Given the description of an element on the screen output the (x, y) to click on. 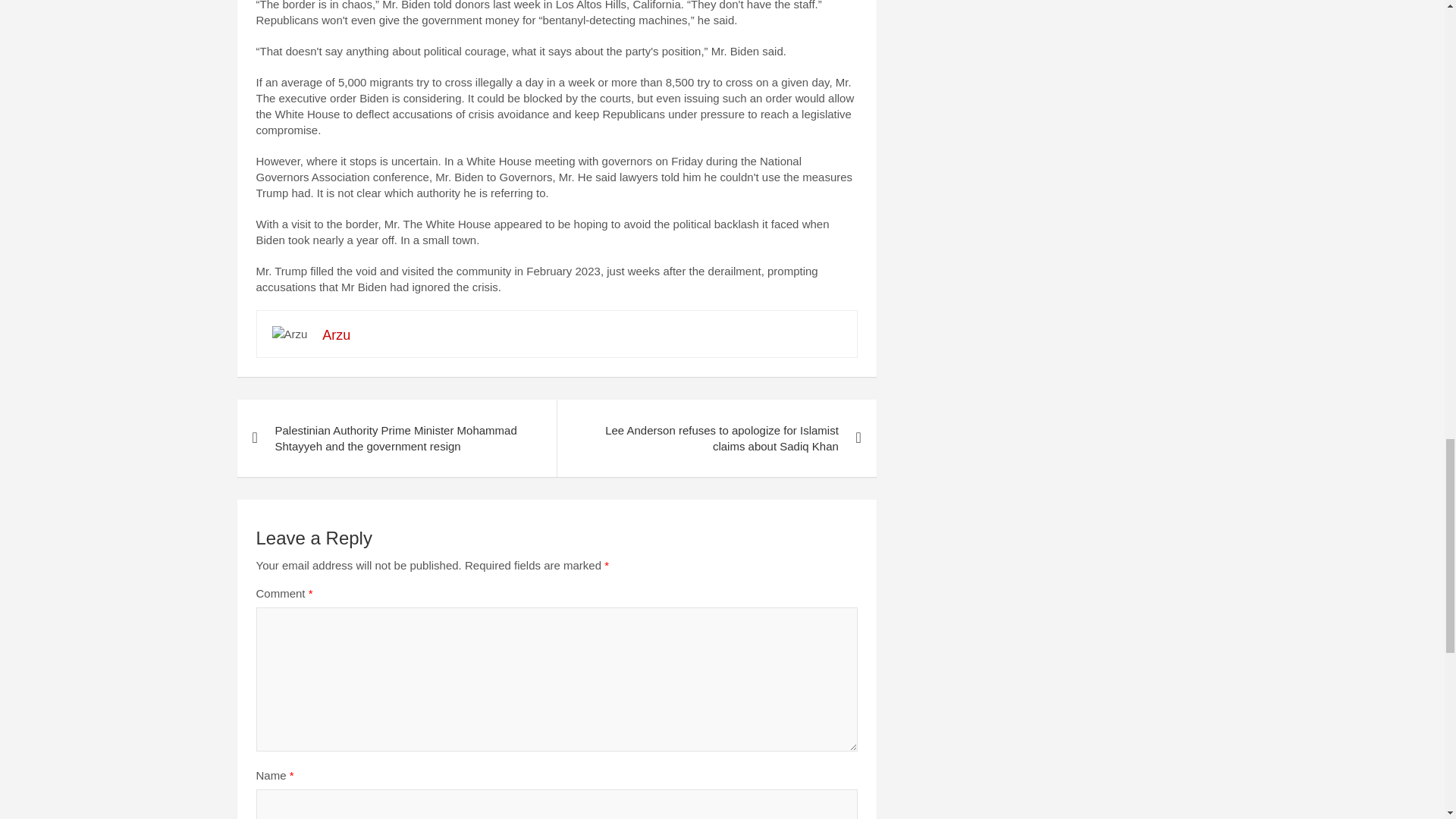
Arzu (335, 335)
